Given the description of an element on the screen output the (x, y) to click on. 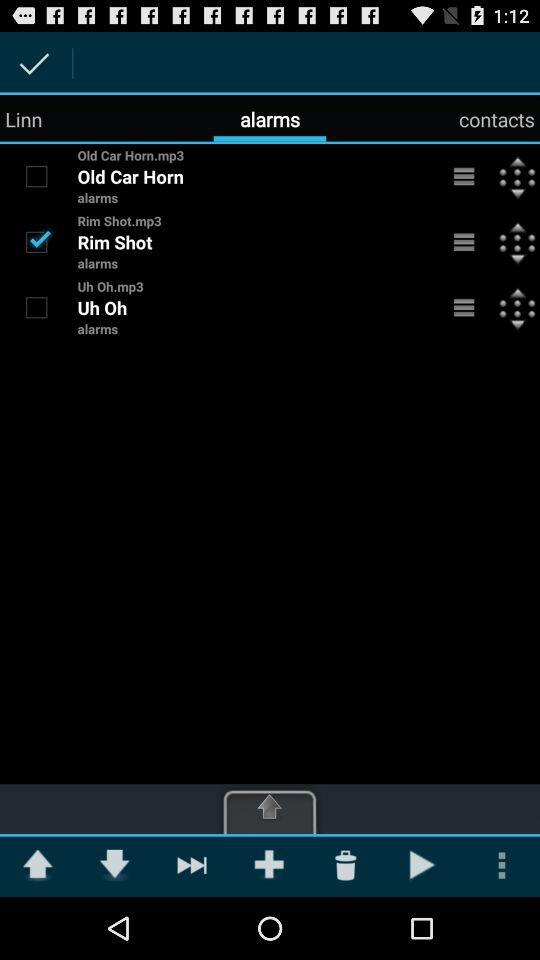
check box alarm (36, 241)
